Given the description of an element on the screen output the (x, y) to click on. 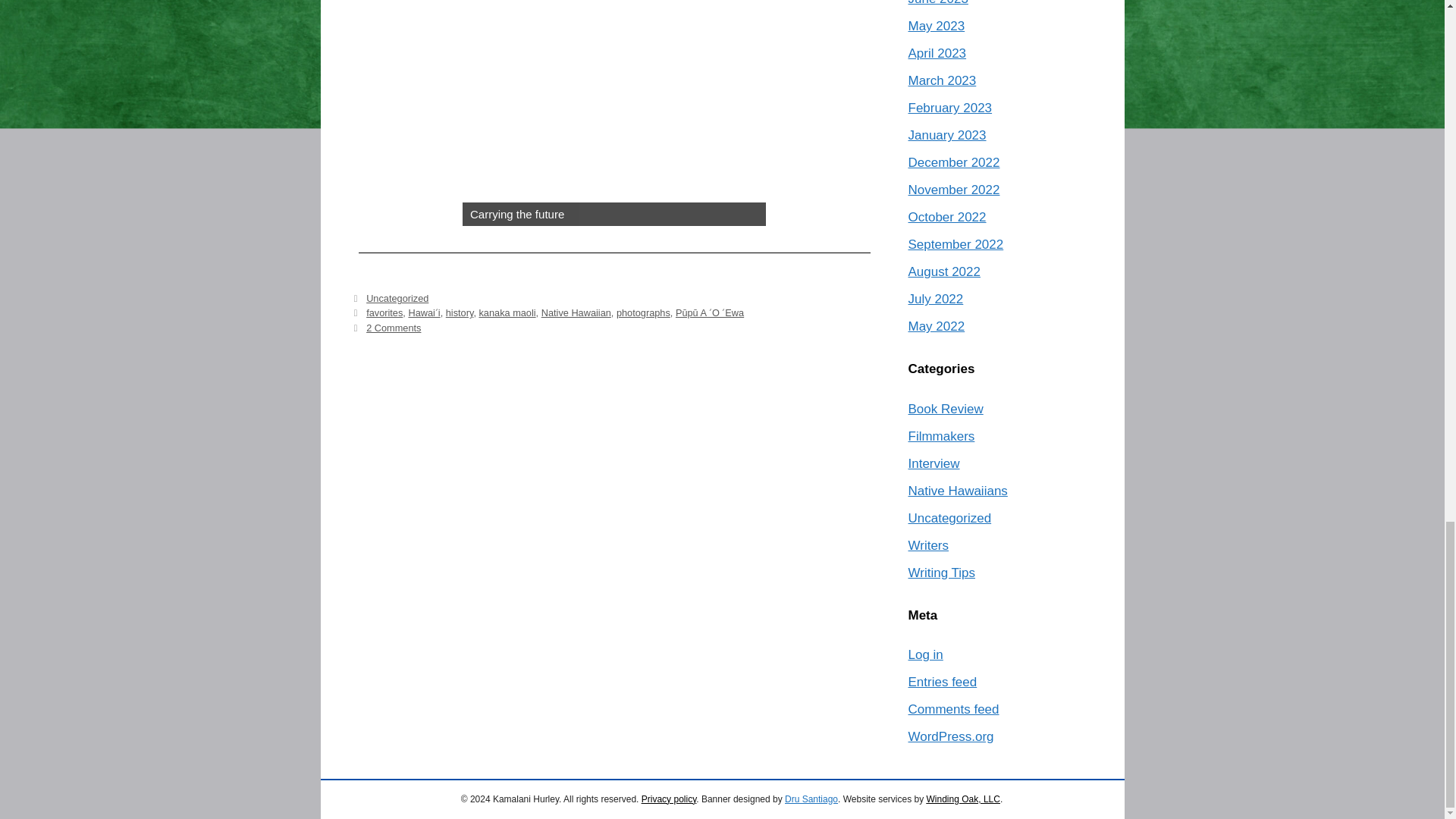
favorites (384, 312)
photographs (642, 312)
Carry the future (614, 113)
2 Comments (393, 327)
Native Hawaiian (576, 312)
history (459, 312)
Uncategorized (397, 297)
kanaka maoli (507, 312)
